Given the description of an element on the screen output the (x, y) to click on. 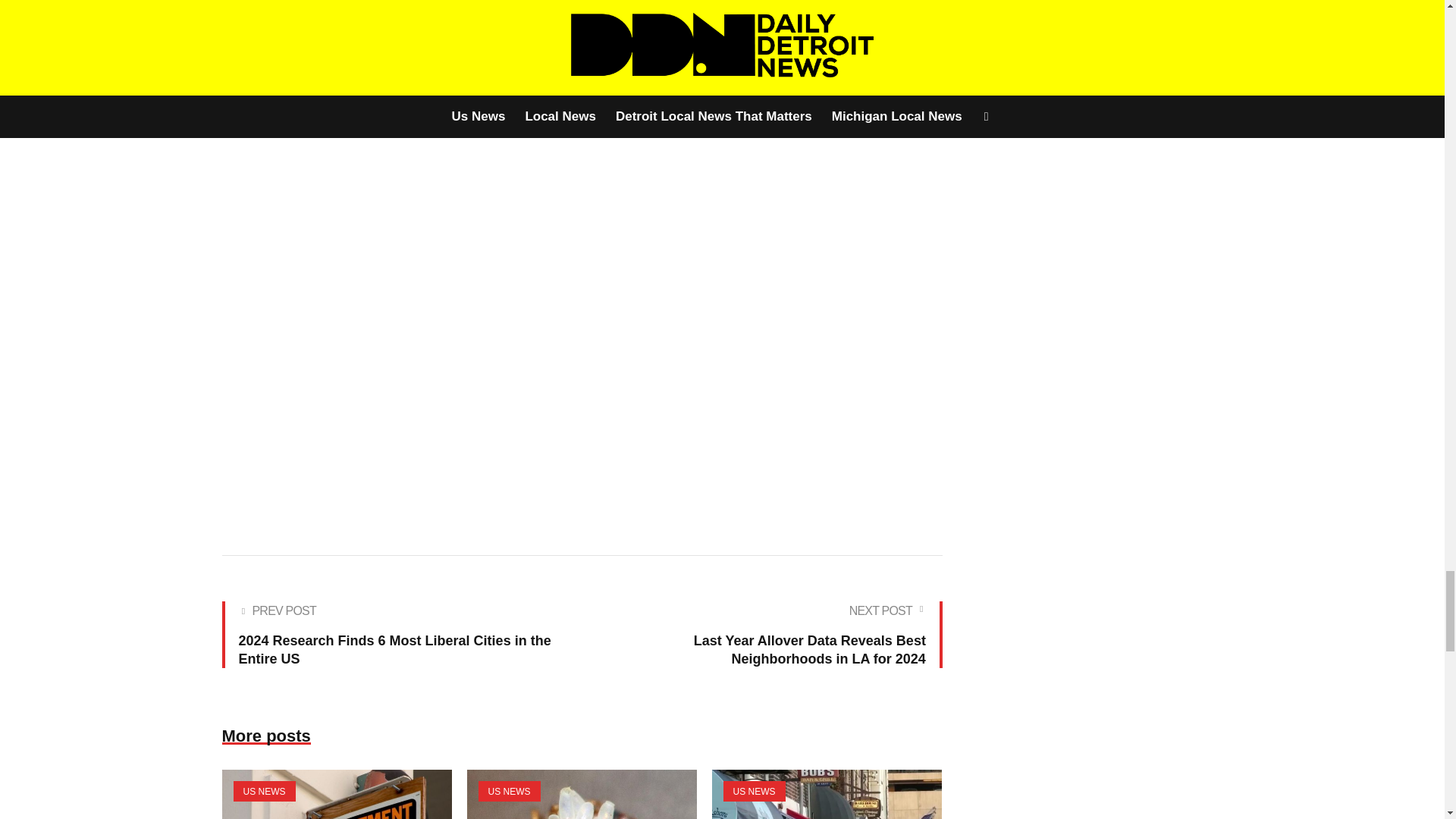
US NEWS (754, 791)
2024 Research Finds 6 Most Liberal Cities in the Entire US (397, 634)
US NEWS (263, 791)
New Rental Laws in California Starting From July 1, 2024 (336, 794)
US NEWS (508, 791)
